Given the description of an element on the screen output the (x, y) to click on. 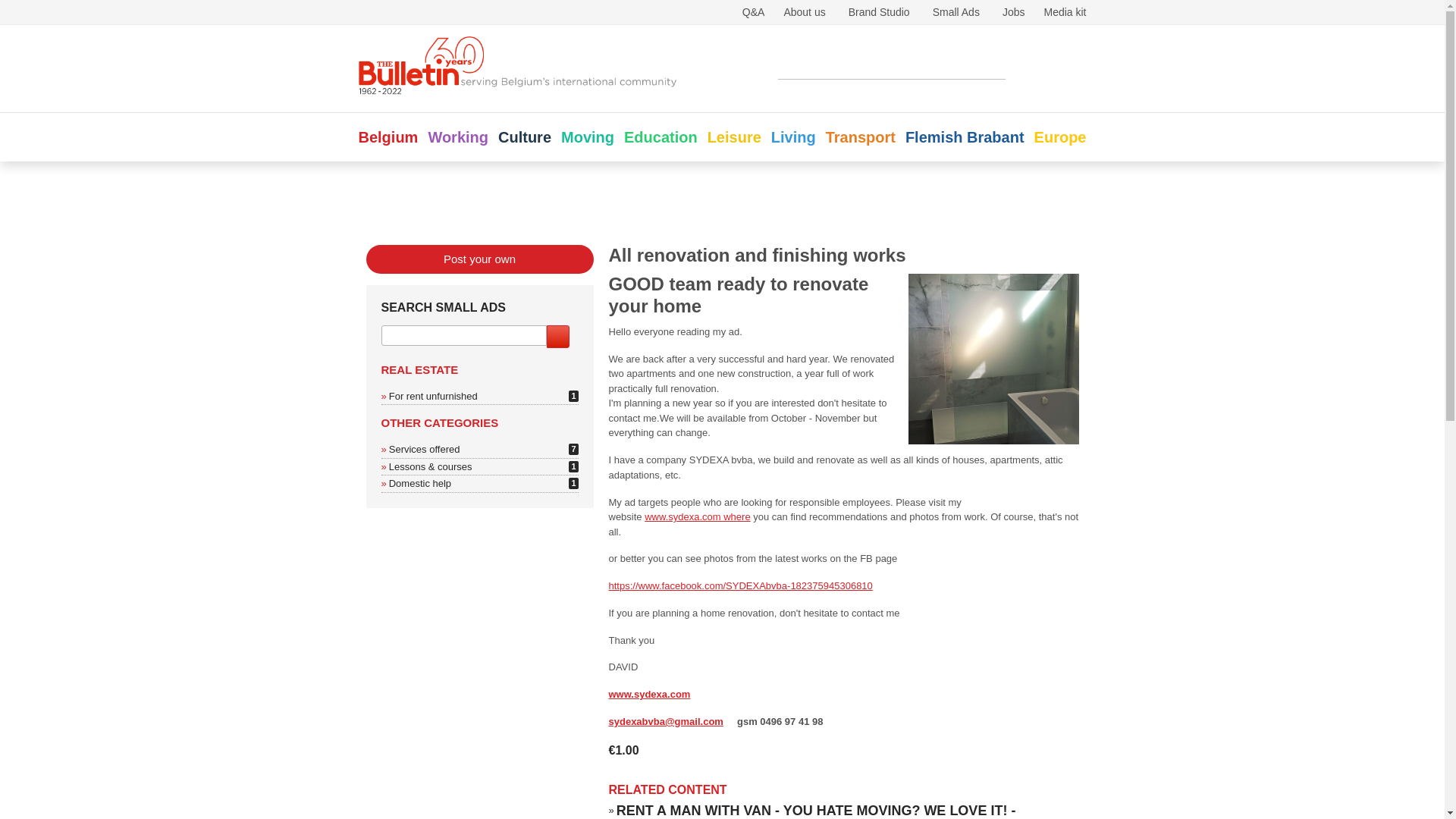
Brand Studio (879, 11)
Education (660, 136)
Moving (587, 136)
Post your own (478, 392)
Living (793, 136)
Search (424, 582)
Flemish Brabant (1037, 67)
